Given the description of an element on the screen output the (x, y) to click on. 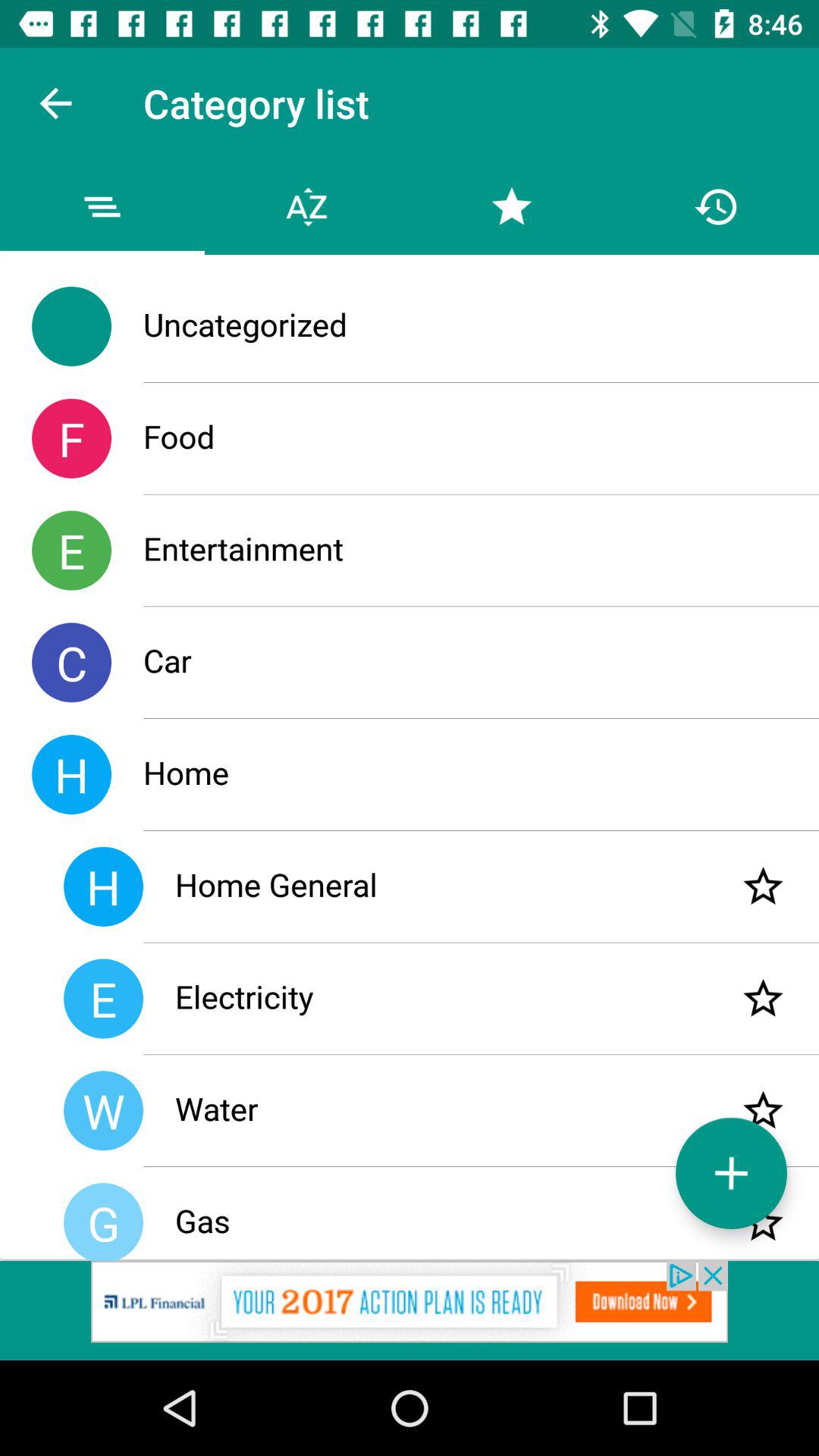
favorite item (763, 886)
